Given the description of an element on the screen output the (x, y) to click on. 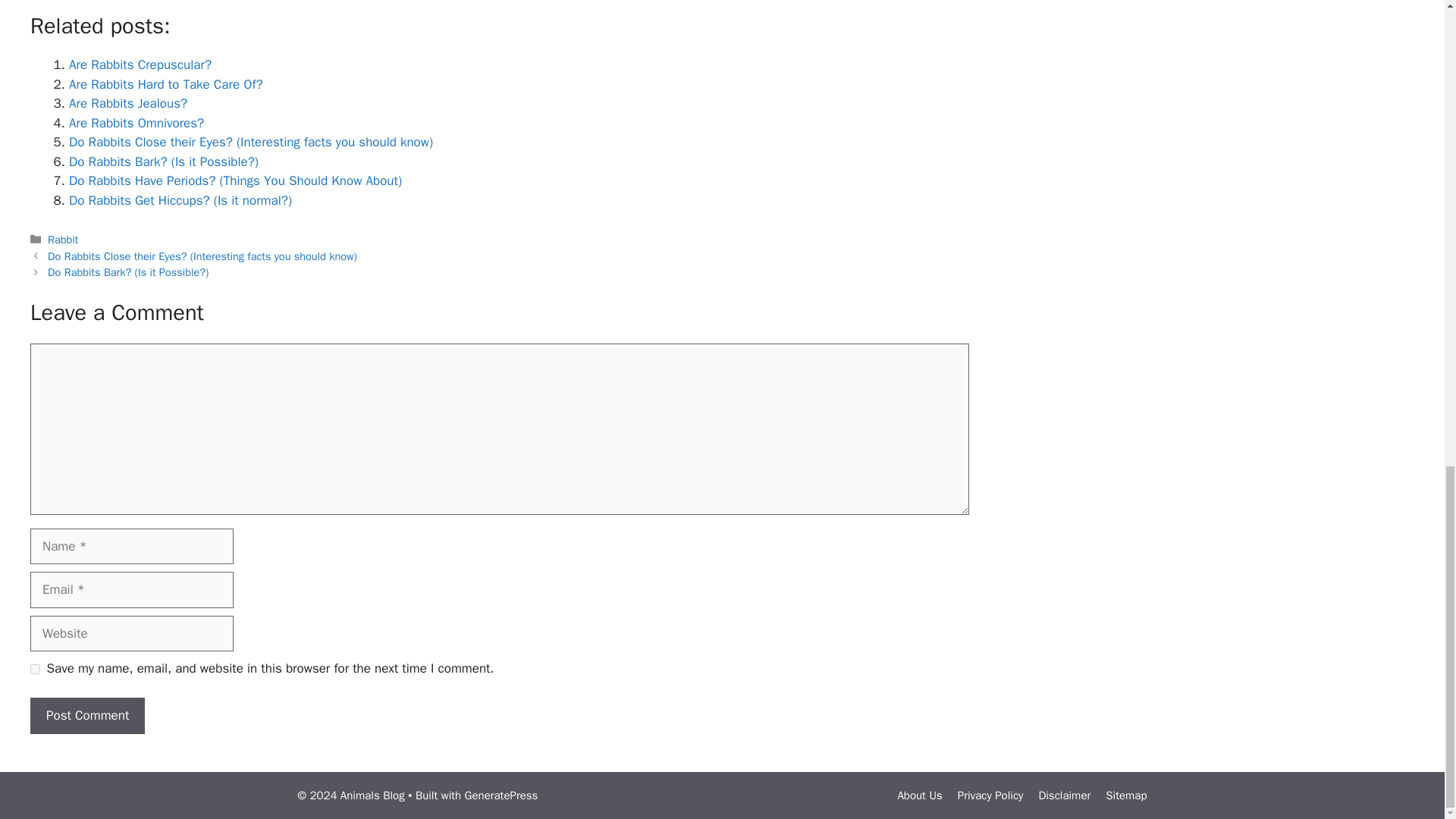
yes (35, 669)
Are Rabbits Hard to Take Care Of? (165, 84)
Post Comment (87, 715)
Rabbit (63, 239)
Are Rabbits Hard to Take Care Of? (165, 84)
Are Rabbits Crepuscular? (139, 64)
Are Rabbits Omnivores? (135, 123)
Post Comment (87, 715)
Are Rabbits Jealous? (127, 103)
Are Rabbits Omnivores? (135, 123)
